Given the description of an element on the screen output the (x, y) to click on. 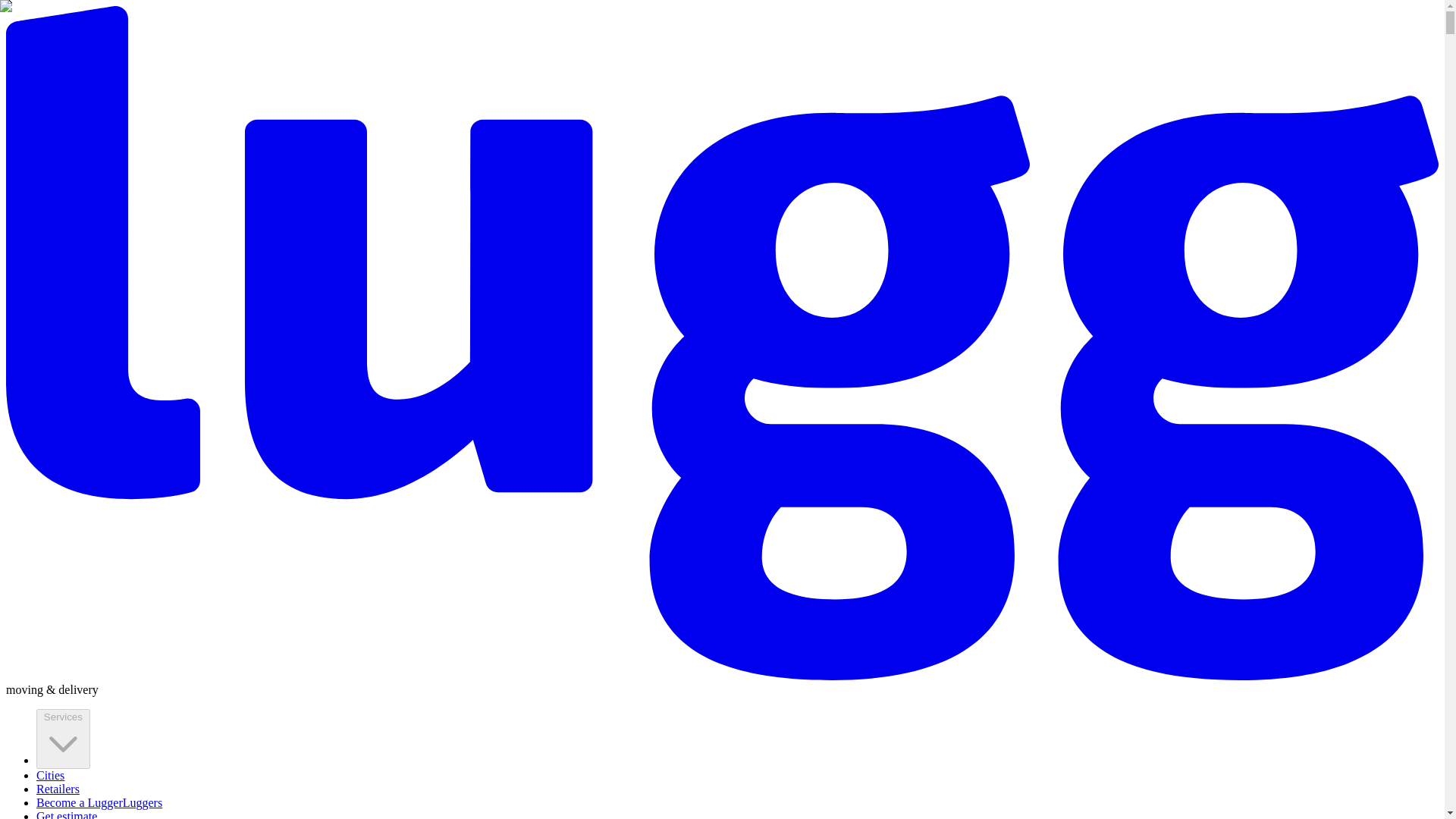
Get estimate (66, 814)
Services (63, 739)
Become a LuggerLuggers (98, 802)
Cities (50, 775)
Retailers (58, 788)
